Given the description of an element on the screen output the (x, y) to click on. 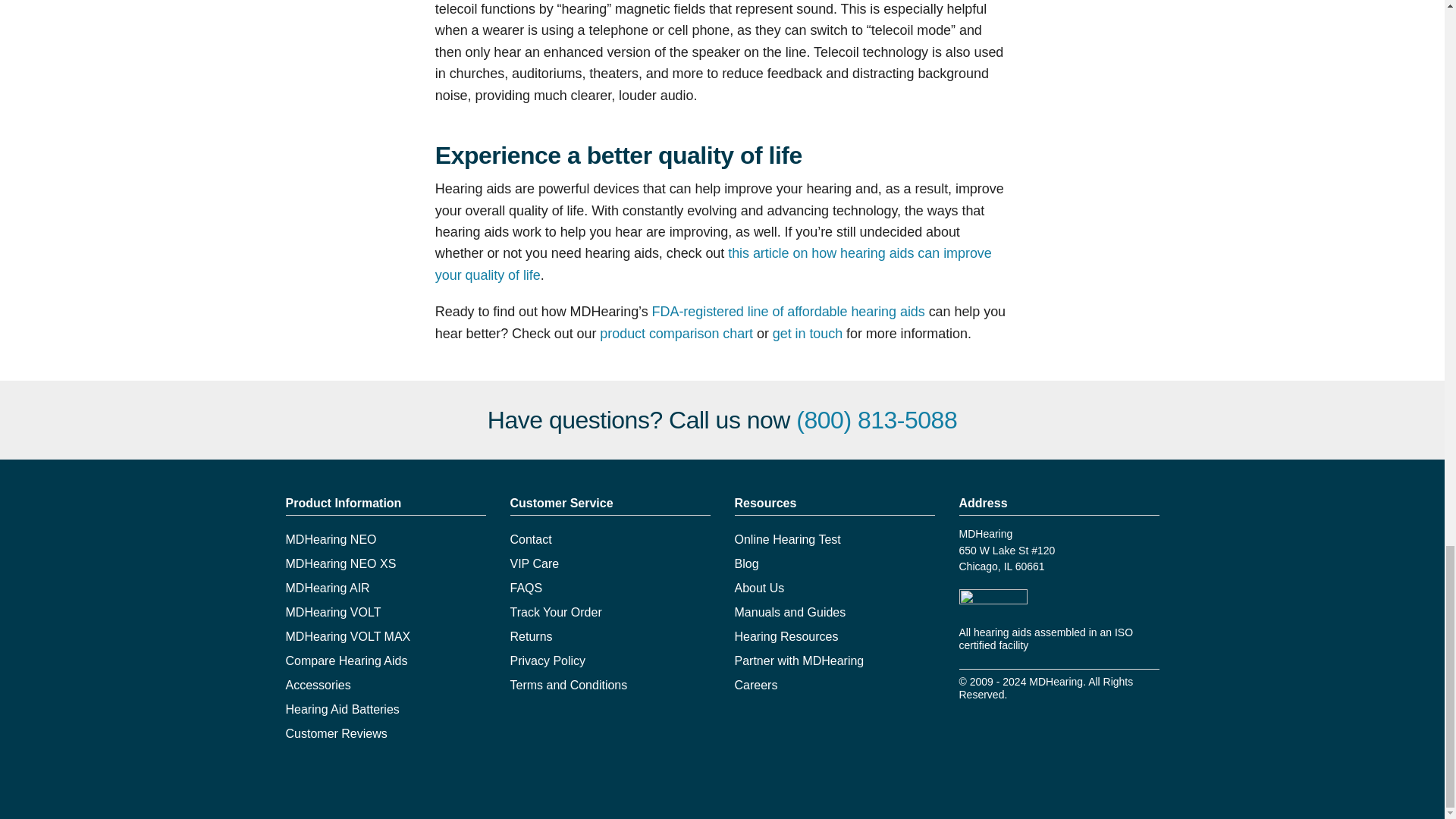
Accessories (317, 684)
FDA-registered line of affordable hearing aids (788, 311)
MDHearing VOLT MAX (347, 635)
MDHearing AIR (327, 587)
Contact (530, 539)
product comparison chart (675, 333)
get in touch (808, 333)
MDHearing NEO XS (340, 563)
Compare Hearing Aids (346, 660)
